Given the description of an element on the screen output the (x, y) to click on. 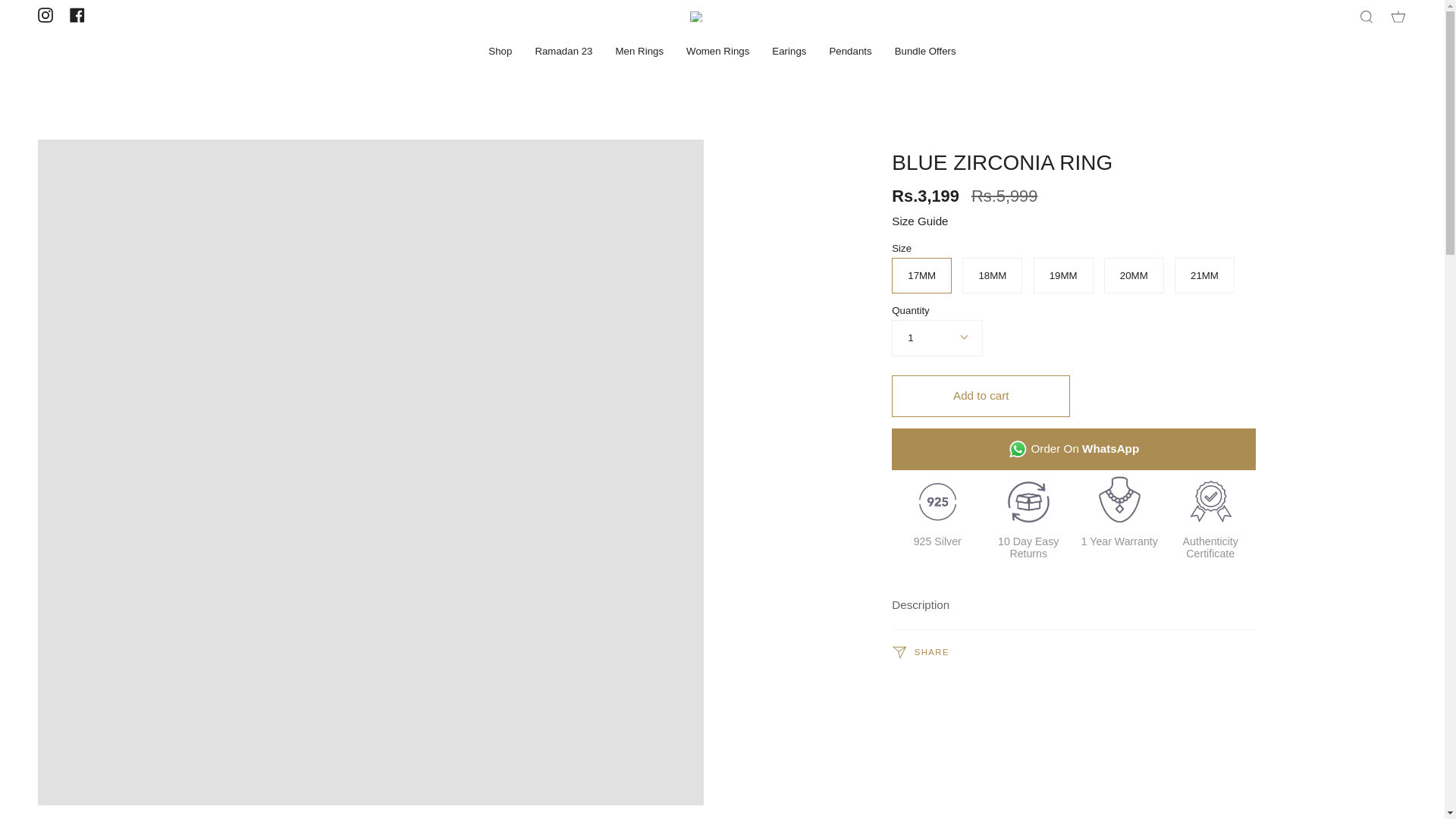
Cart (1397, 16)
tresorjewelspk on Instagram (45, 15)
Cart (1397, 16)
Men Rings (639, 50)
Bundle Offers (925, 50)
Instagram (45, 15)
Earings (788, 50)
Shop (499, 50)
Pendants (849, 50)
Search (1366, 16)
Ramadan 23 (563, 50)
Facebook (77, 15)
Women Rings (717, 50)
Search (1366, 16)
tresorjewelspk on Facebook (77, 15)
